Given the description of an element on the screen output the (x, y) to click on. 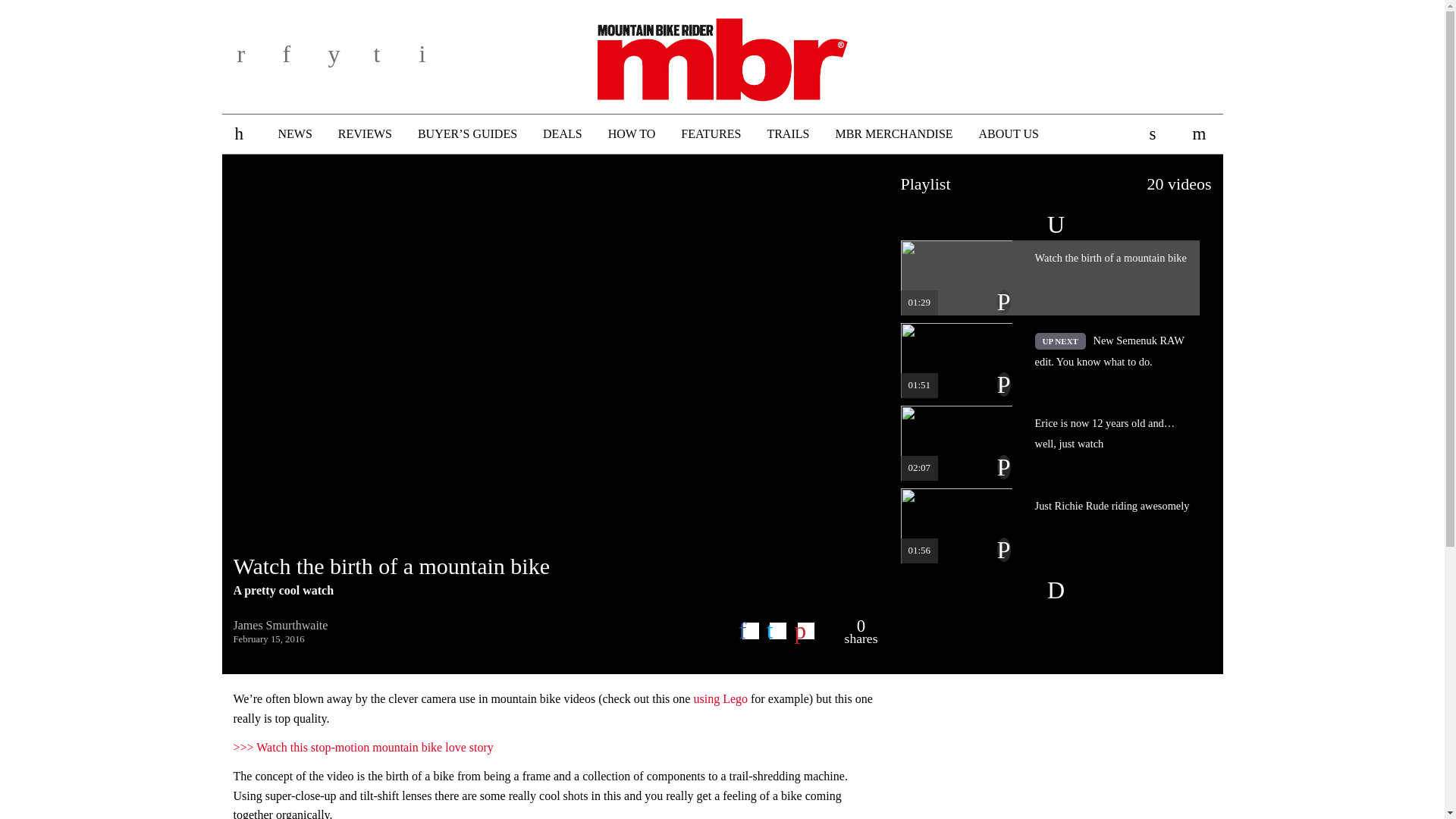
FEATURES (711, 133)
HOW TO (631, 133)
y (345, 59)
James Smurthwaite's Profile (280, 625)
ABOUT US (1008, 133)
New Semenuk RAW edit. You know what to do. (1050, 360)
TRAILS (788, 133)
NEWS (294, 133)
MBR MERCHANDISE (893, 133)
